Given the description of an element on the screen output the (x, y) to click on. 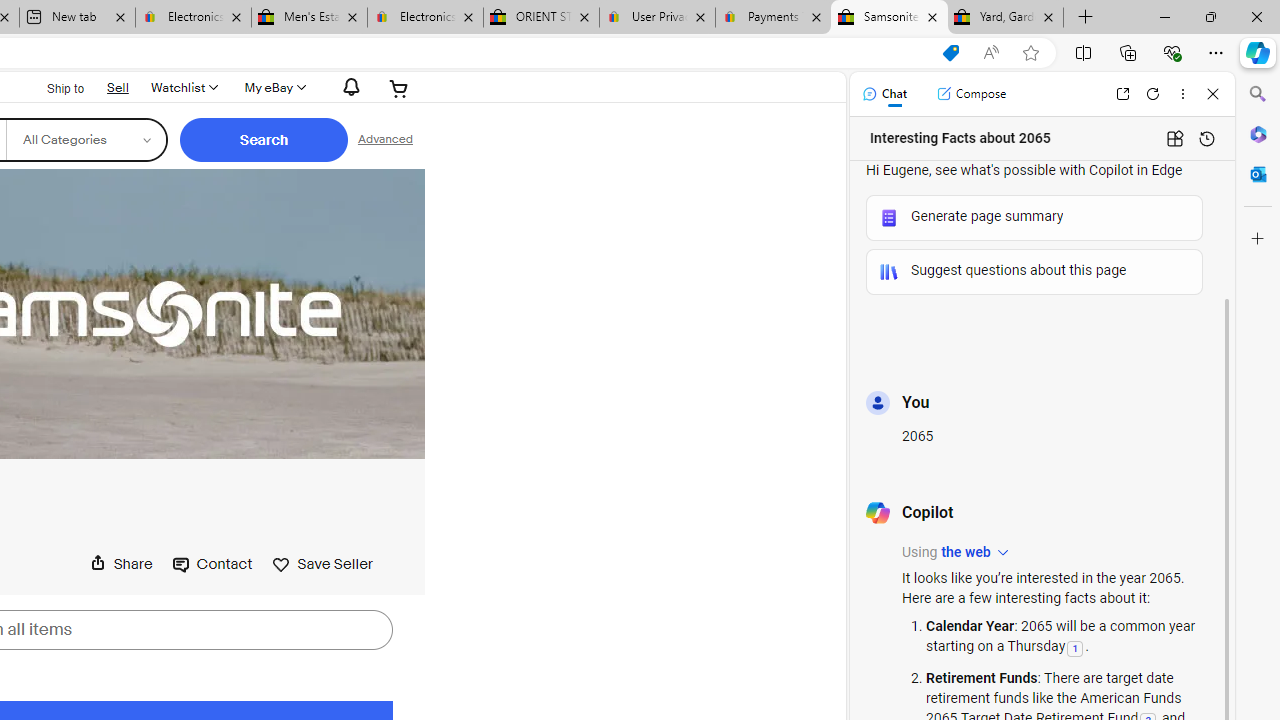
Expand Cart (399, 88)
Payments Terms of Use | eBay.com (772, 17)
User Privacy Notice | eBay (657, 17)
AutomationID: gh-eb-Alerts (349, 87)
Save Seller (321, 563)
Ship to (52, 86)
Samsonite | eBay Stores (889, 17)
